Given the description of an element on the screen output the (x, y) to click on. 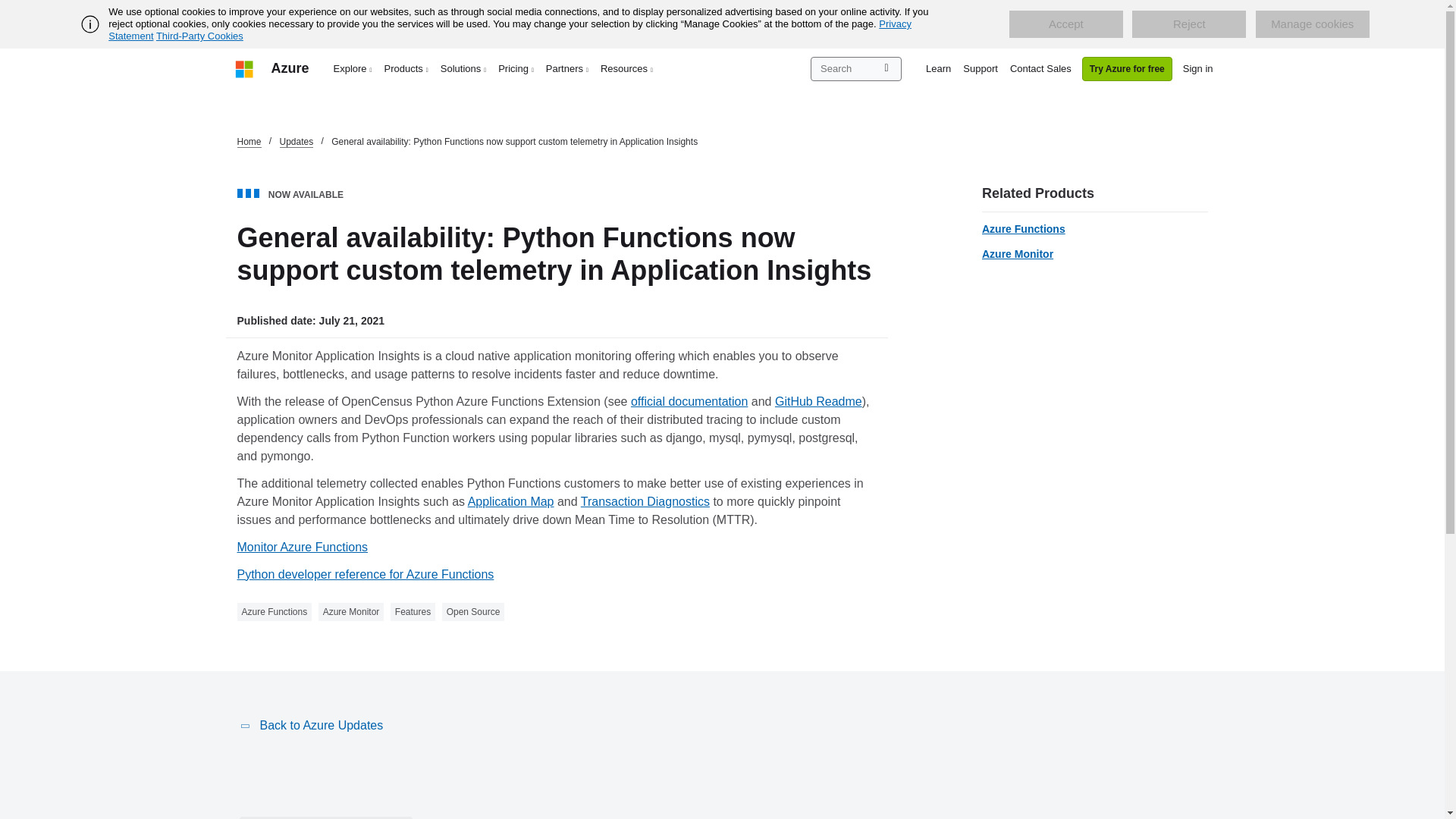
Explore (352, 68)
Azure (289, 68)
Skip to main content (7, 7)
Accept (1065, 23)
Reject (1189, 23)
Products (405, 68)
Manage cookies (1312, 23)
Third-Party Cookies (199, 35)
Privacy Statement (509, 29)
